Given the description of an element on the screen output the (x, y) to click on. 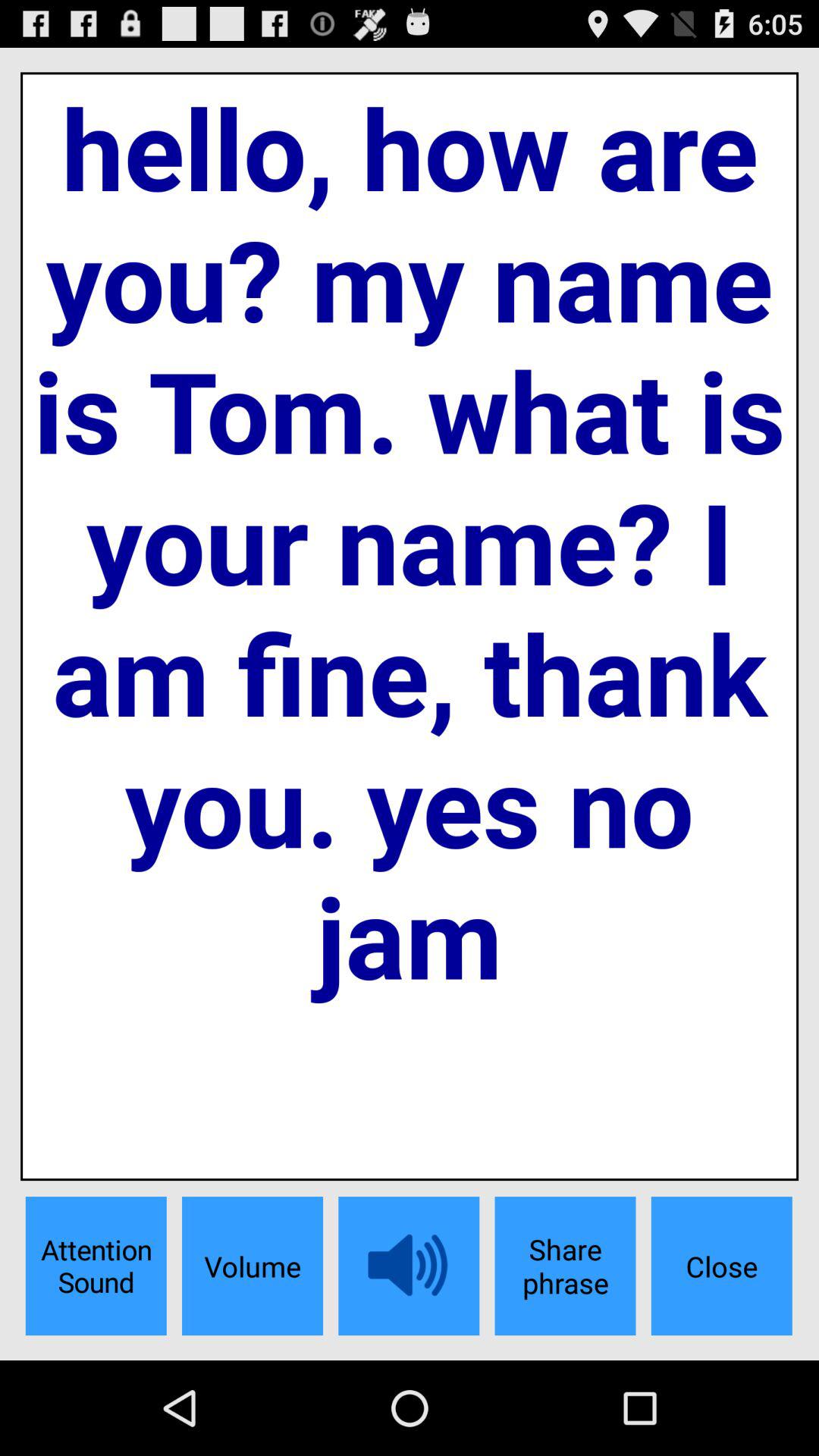
click the close (721, 1265)
